Given the description of an element on the screen output the (x, y) to click on. 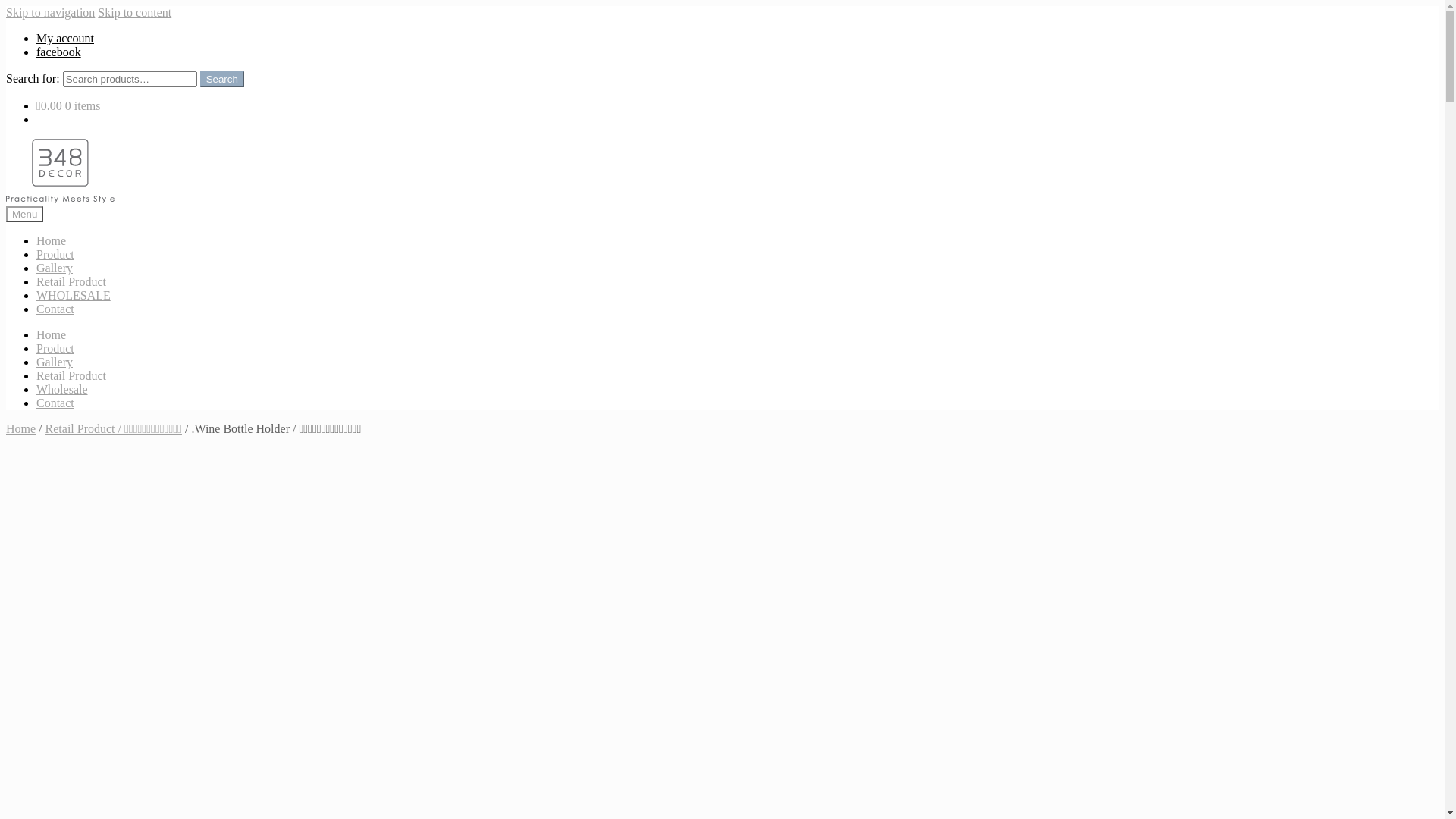
Gallery Element type: text (54, 361)
Product Element type: text (55, 348)
Wholesale Element type: text (61, 388)
Home Element type: text (50, 240)
Search Element type: text (222, 79)
facebook Element type: text (58, 51)
WHOLESALE Element type: text (73, 294)
Skip to navigation Element type: text (50, 12)
Home Element type: text (20, 428)
Contact Element type: text (55, 308)
Contact Element type: text (55, 402)
My account Element type: text (65, 37)
Gallery Element type: text (54, 267)
Retail Product Element type: text (71, 281)
Skip to content Element type: text (134, 12)
Home Element type: text (50, 334)
Menu Element type: text (24, 214)
Retail Product Element type: text (71, 375)
Product Element type: text (55, 253)
